Given the description of an element on the screen output the (x, y) to click on. 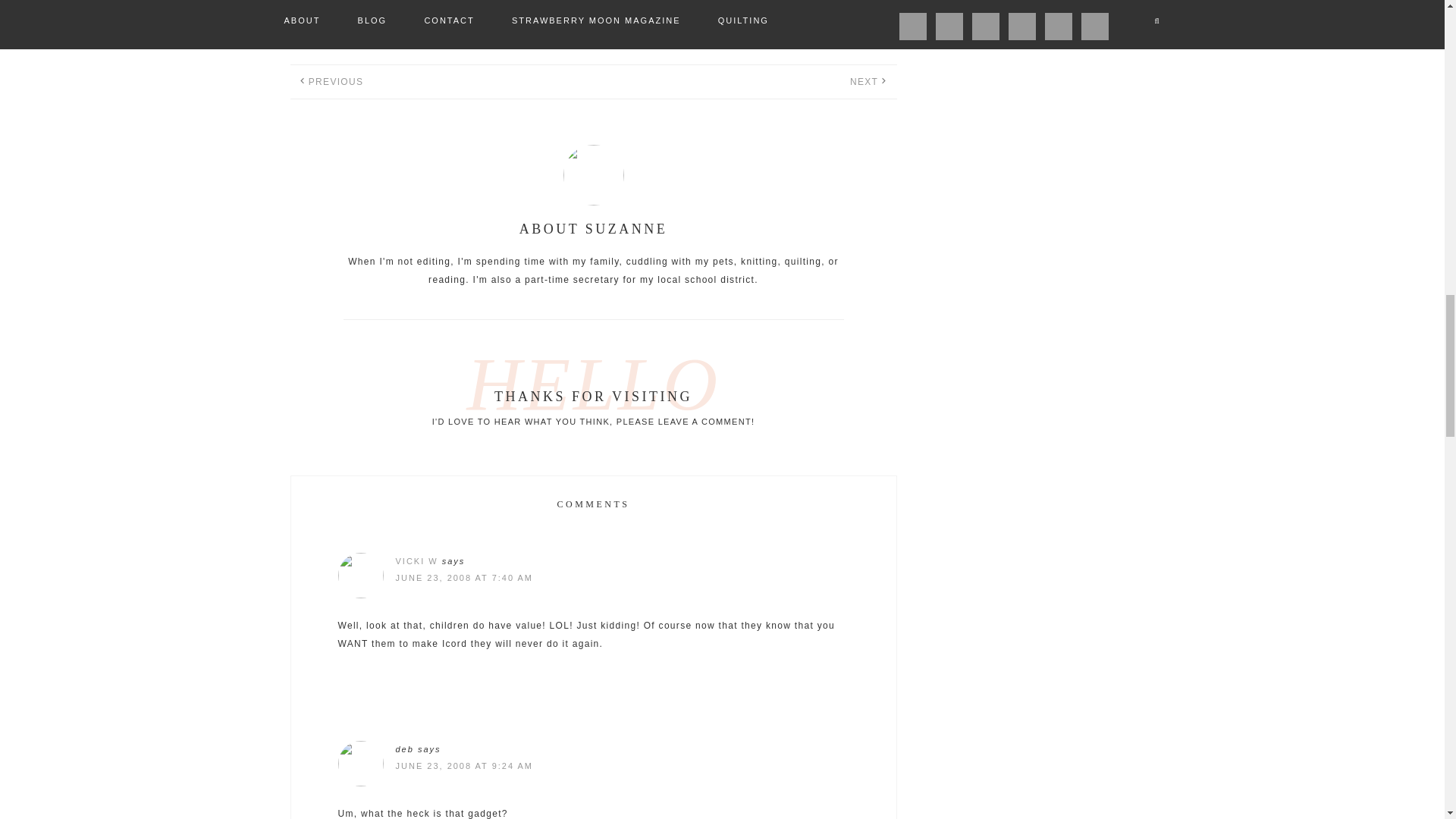
KNITTING (720, 33)
JUNE 23, 2008 AT 7:40 AM (465, 577)
UNCATEGORIZED (564, 33)
NEXT (863, 81)
VICKI W (417, 560)
JUNE 23, 2008 AT 9:24 AM (465, 765)
PREVIOUS (335, 81)
